Given the description of an element on the screen output the (x, y) to click on. 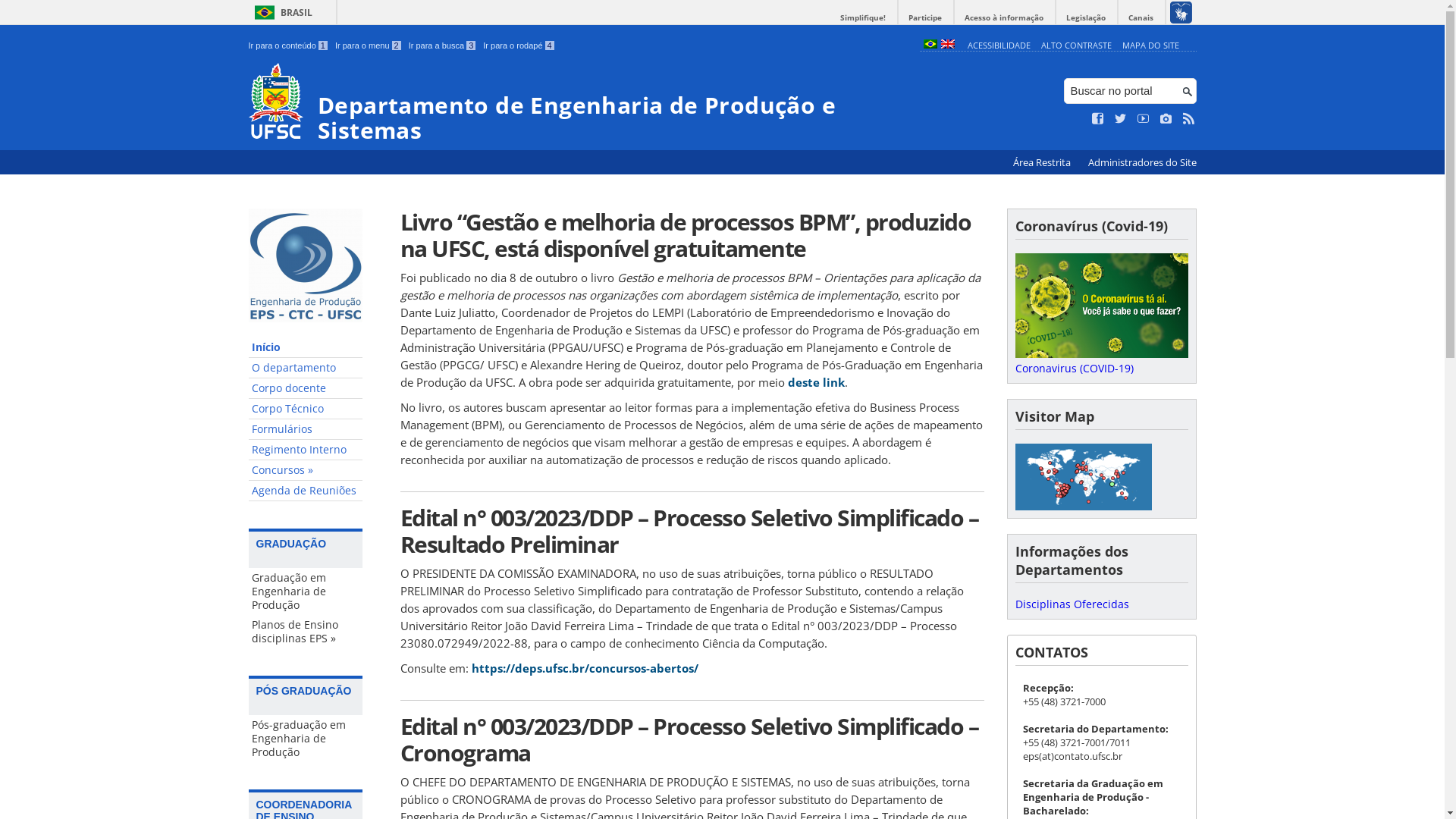
https://deps.ufsc.br/concursos-abertos/ Element type: text (584, 667)
Visit tracker Element type: hover (1082, 505)
Ir para a busca 3 Element type: text (442, 45)
Curta no Facebook Element type: hover (1098, 118)
deste link Element type: text (815, 381)
Regimento Interno Element type: text (305, 449)
ALTO CONTRASTE Element type: text (1076, 44)
Participe Element type: text (924, 18)
O departamento Element type: text (305, 367)
Simplifique! Element type: text (862, 18)
Disciplinas Oferecidas Element type: text (1071, 603)
ACESSIBILIDADE Element type: text (998, 44)
Corpo docente Element type: text (305, 388)
MAPA DO SITE Element type: text (1150, 44)
Coronavirus (COVID-19) Element type: text (1100, 360)
Ir para o menu 2 Element type: text (368, 45)
English (en) Element type: hover (946, 44)
Siga no Twitter Element type: hover (1120, 118)
Canais Element type: text (1140, 18)
BRASIL Element type: text (280, 12)
Administradores do Site Element type: text (1141, 162)
Veja no Instagram Element type: hover (1166, 118)
